Given the description of an element on the screen output the (x, y) to click on. 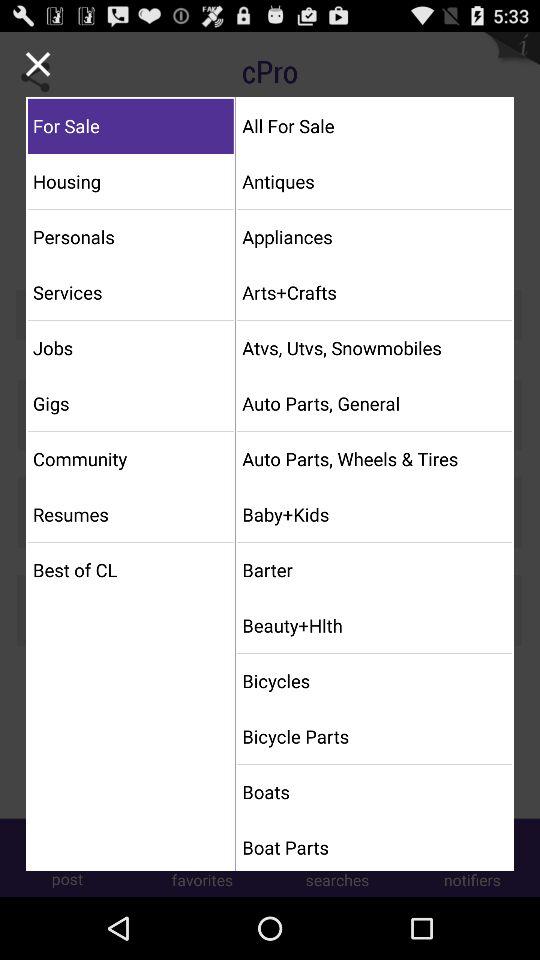
scroll to the beauty+hlth item (374, 625)
